Given the description of an element on the screen output the (x, y) to click on. 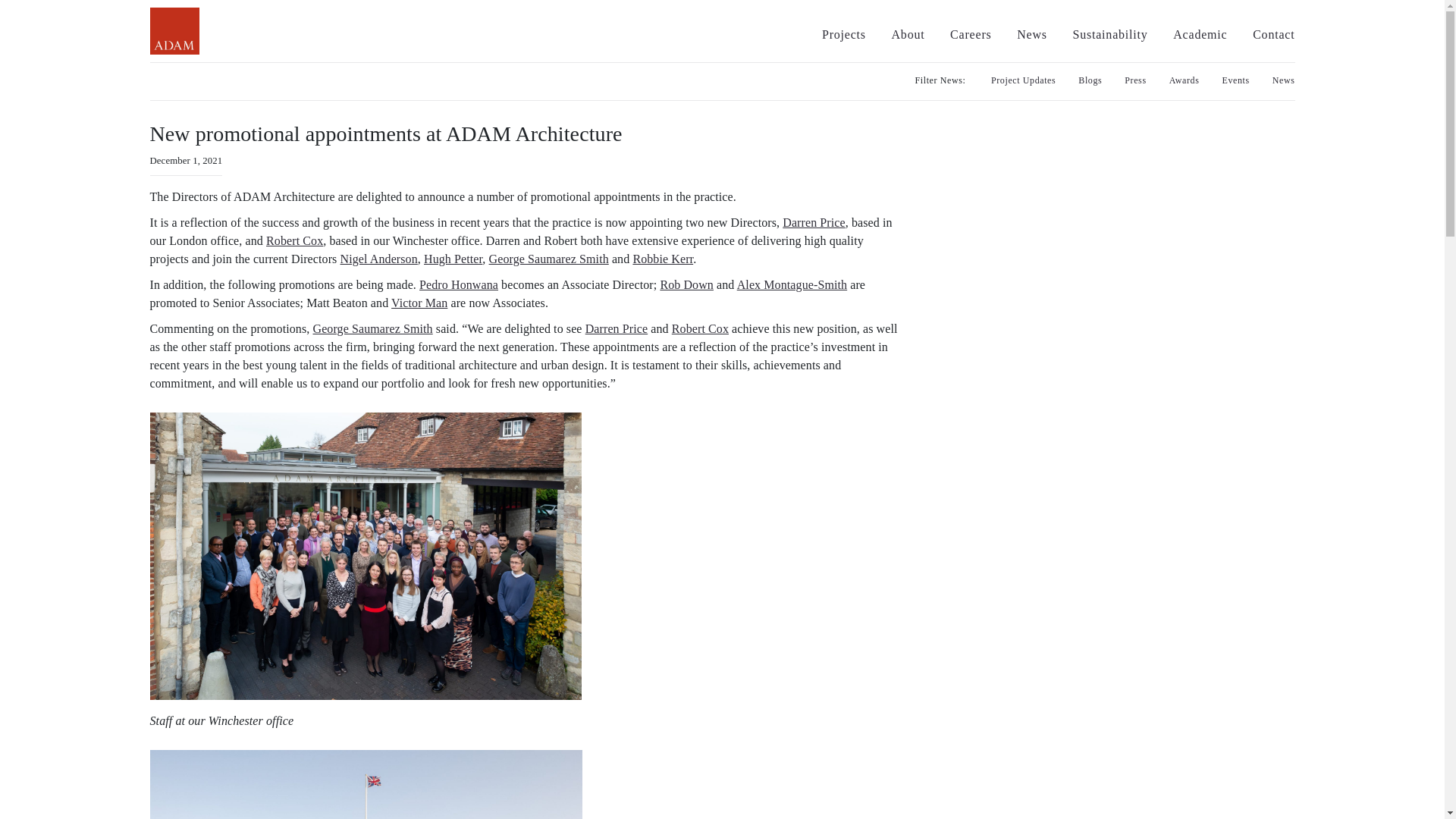
George Saumarez Smith (372, 328)
Projects (844, 33)
Project Updates (1023, 80)
Blogs (1090, 80)
About (907, 33)
Nigel Anderson (378, 258)
View all post filed under Events (1236, 80)
News (1031, 33)
Robert Cox (294, 240)
View all post filed under Blogs (1090, 80)
Darren Price (814, 222)
Awards (1184, 80)
View all post filed under Project Updates (1023, 80)
Rob Down (686, 284)
Alex Montague-Smith (791, 284)
